Given the description of an element on the screen output the (x, y) to click on. 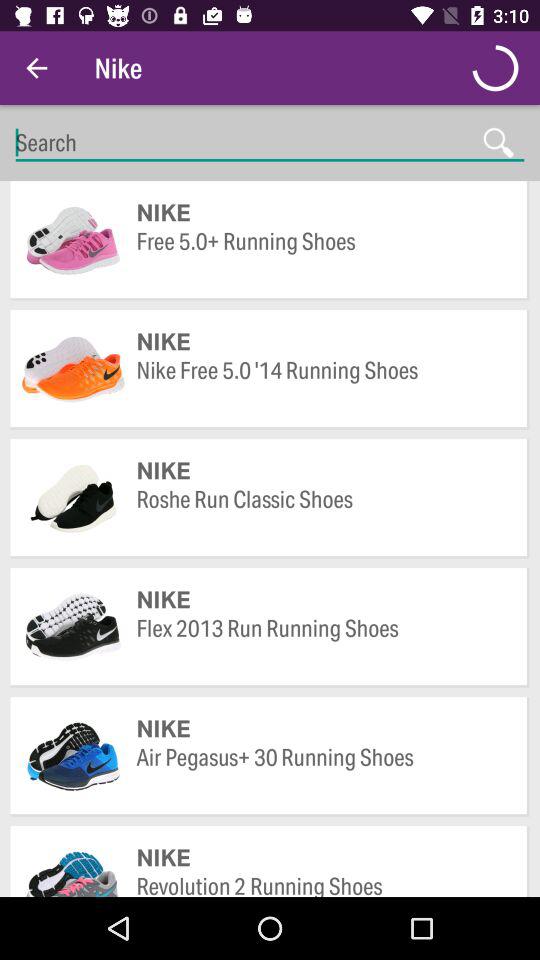
launch the item above nike (322, 514)
